Given the description of an element on the screen output the (x, y) to click on. 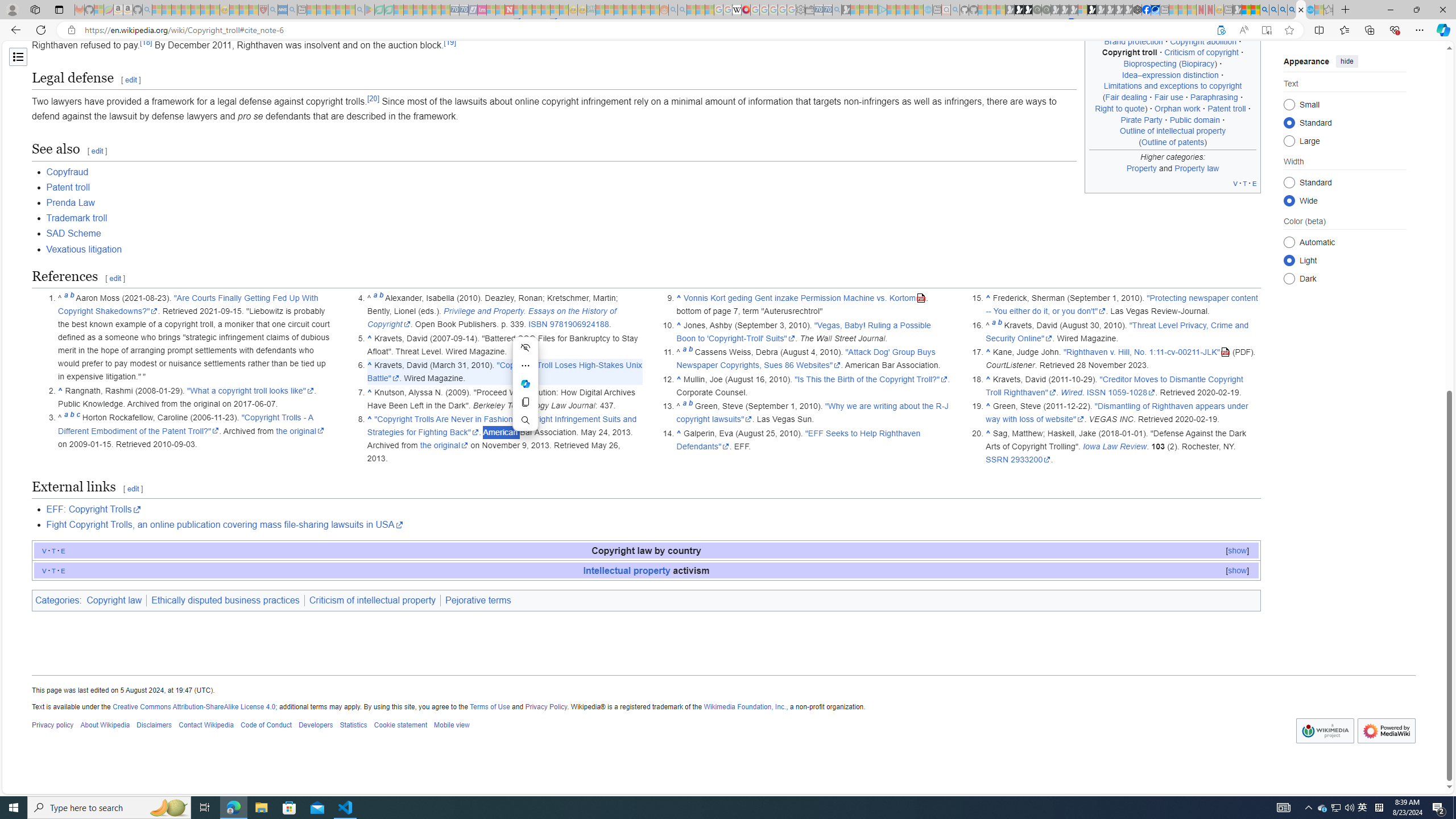
Mobile view (451, 725)
Prenda Law (653, 202)
Wikimedia Foundation (1325, 730)
Hide menu (525, 347)
Contact Wikipedia (206, 725)
Pejorative terms (477, 600)
Jobs - lastminute.com Investor Portal - Sleeping (482, 9)
Google Chrome Internet Browser Download - Search Images (1291, 9)
